Given the description of an element on the screen output the (x, y) to click on. 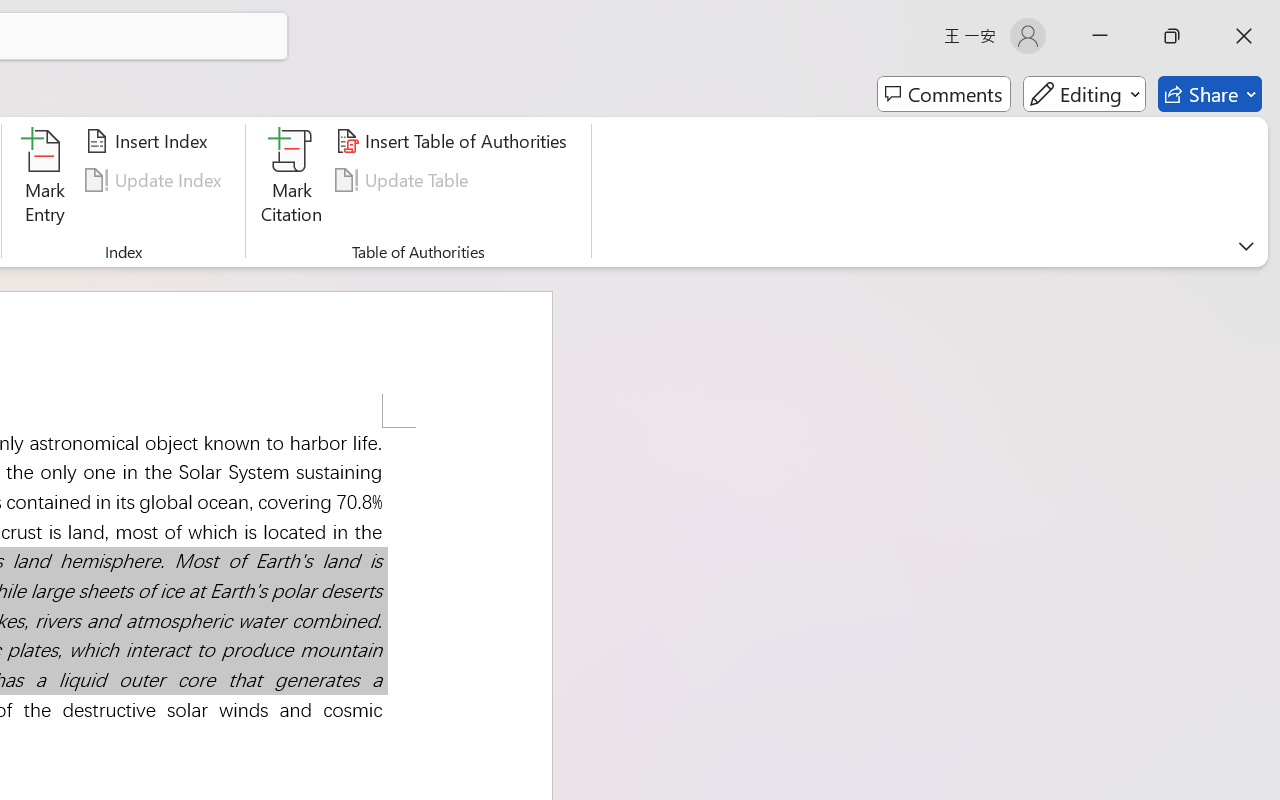
Insert Index... (149, 141)
Update Table (404, 179)
Mark Citation... (292, 179)
Insert Table of Authorities... (453, 141)
Update Index (156, 179)
Mark Entry... (44, 179)
